Given the description of an element on the screen output the (x, y) to click on. 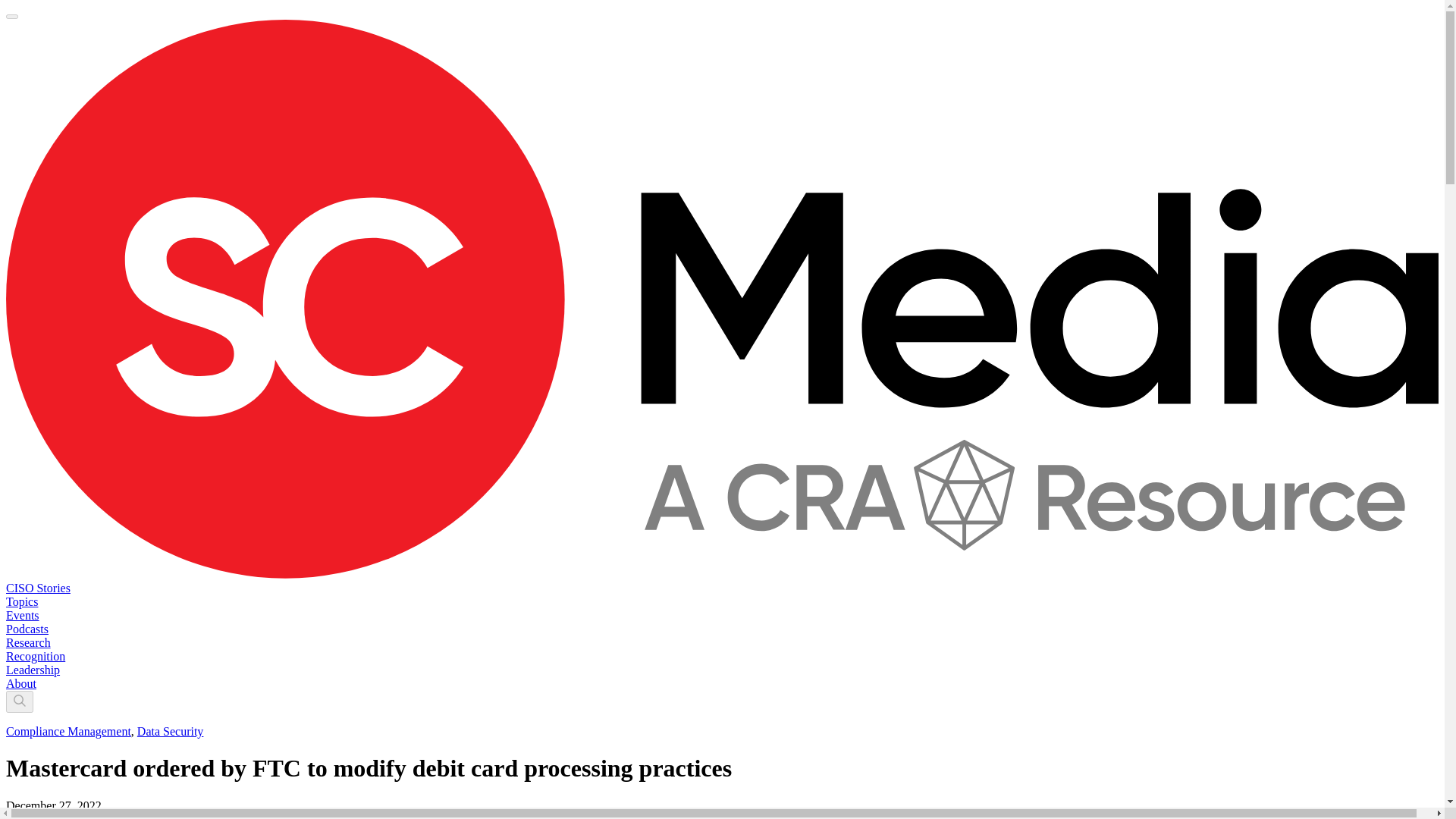
Leadership (32, 669)
About (20, 683)
Recognition (35, 656)
CISO Stories (37, 587)
Data Security (169, 730)
Events (22, 615)
Research (27, 642)
Topics (21, 601)
Compliance Management (68, 730)
